Given the description of an element on the screen output the (x, y) to click on. 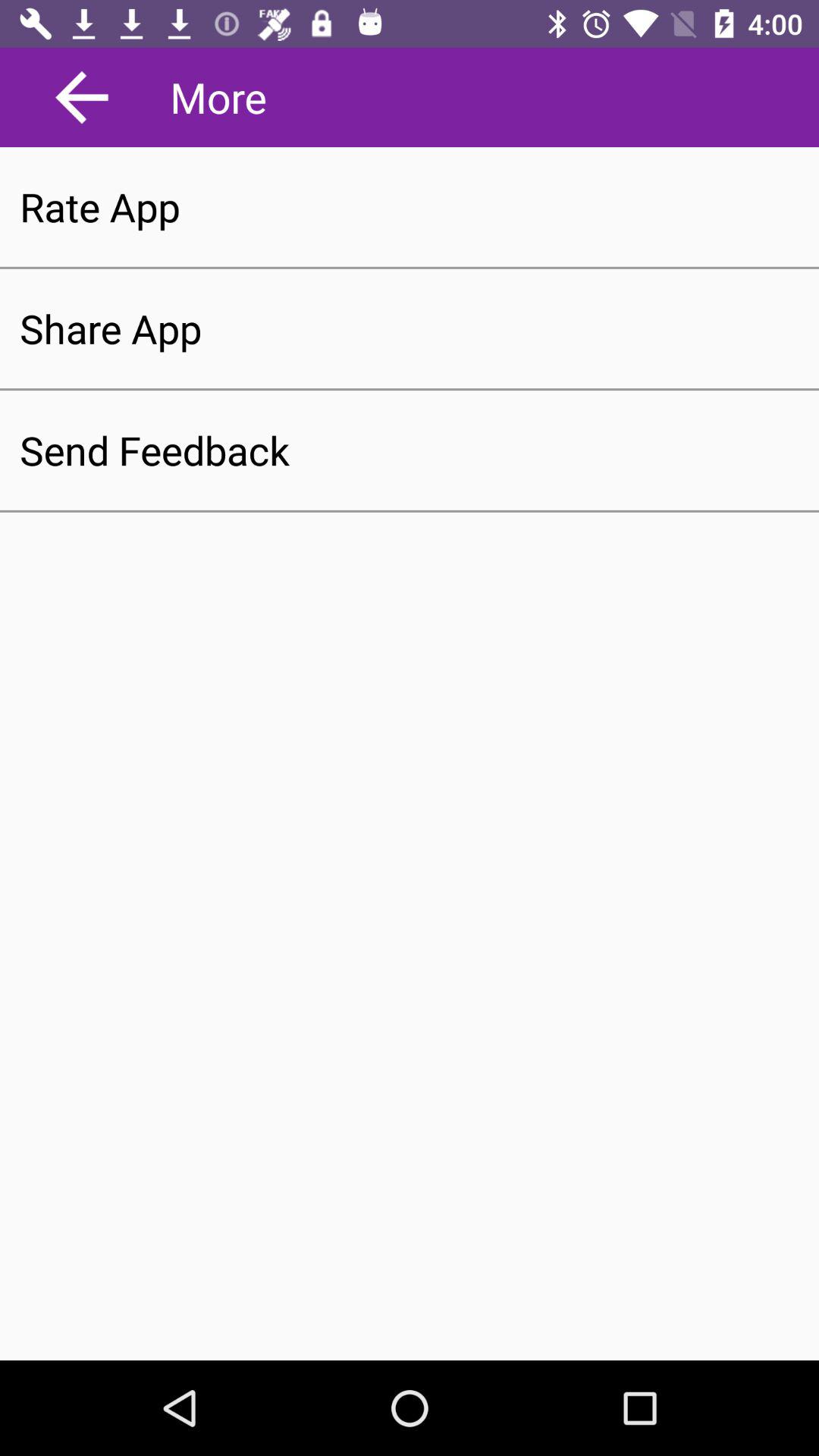
go to previous menu (81, 97)
